Given the description of an element on the screen output the (x, y) to click on. 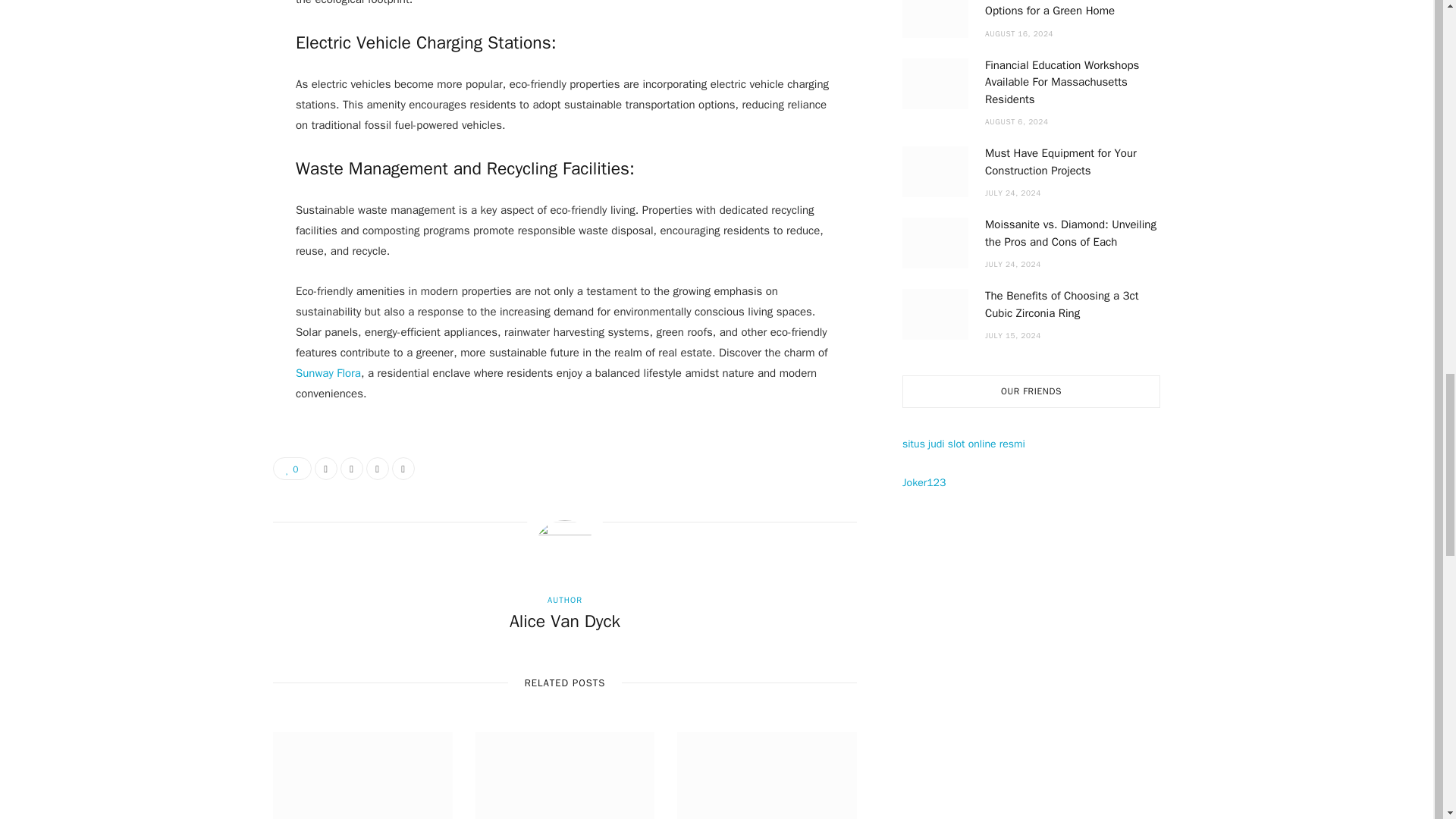
Share on Facebook (325, 468)
Pinterest (377, 468)
Share on Twitter (351, 468)
Email (402, 468)
0 (292, 468)
Alice Van Dyck (564, 621)
Posts by Alice Van Dyck (564, 621)
Sunway Flora (328, 373)
